Given the description of an element on the screen output the (x, y) to click on. 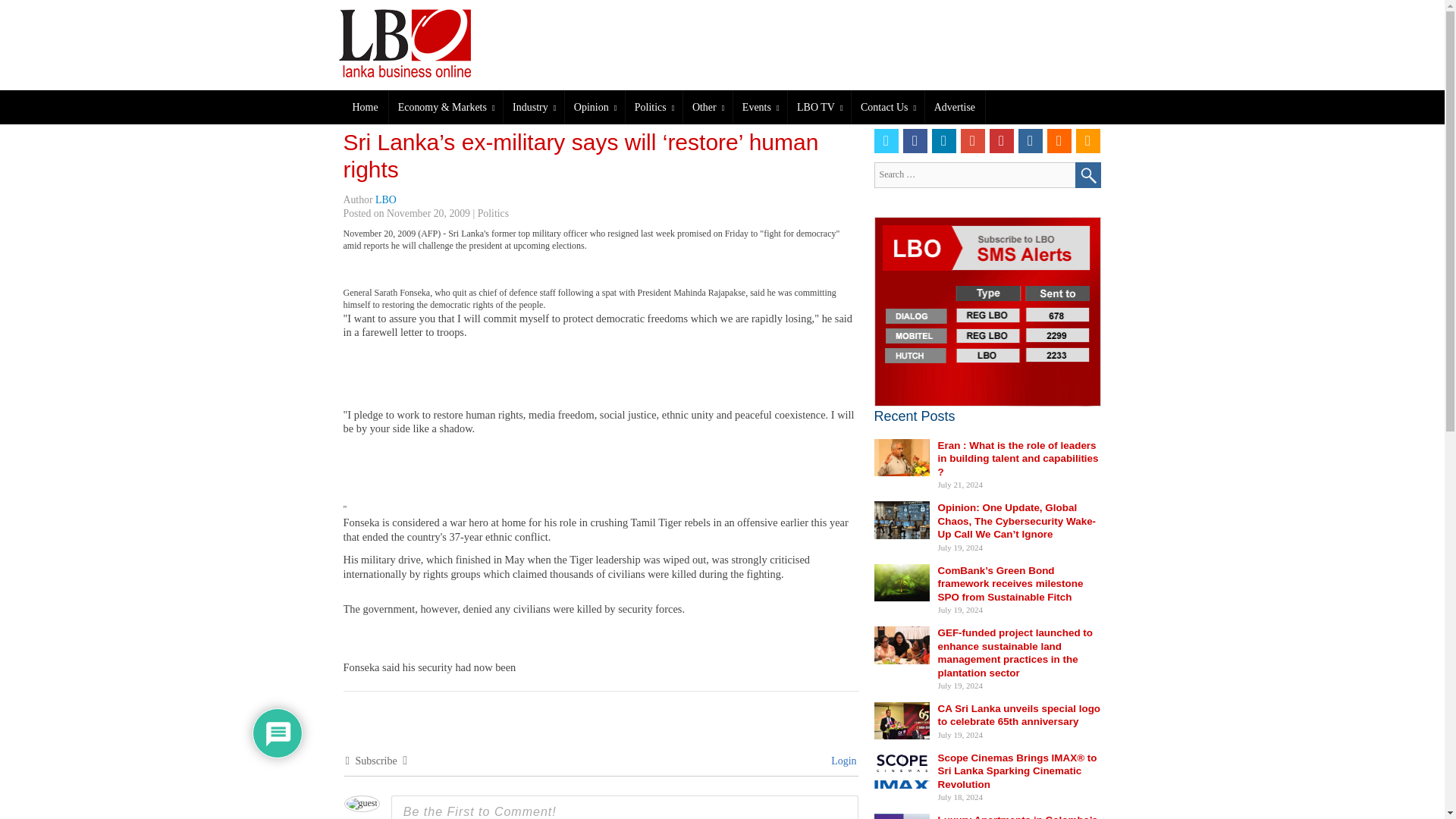
Lanka Business Online (427, 42)
Lanka Business Online (414, 42)
12:00 AM (428, 213)
Search (1087, 175)
View all posts by LBO (385, 199)
Search (1087, 175)
